Given the description of an element on the screen output the (x, y) to click on. 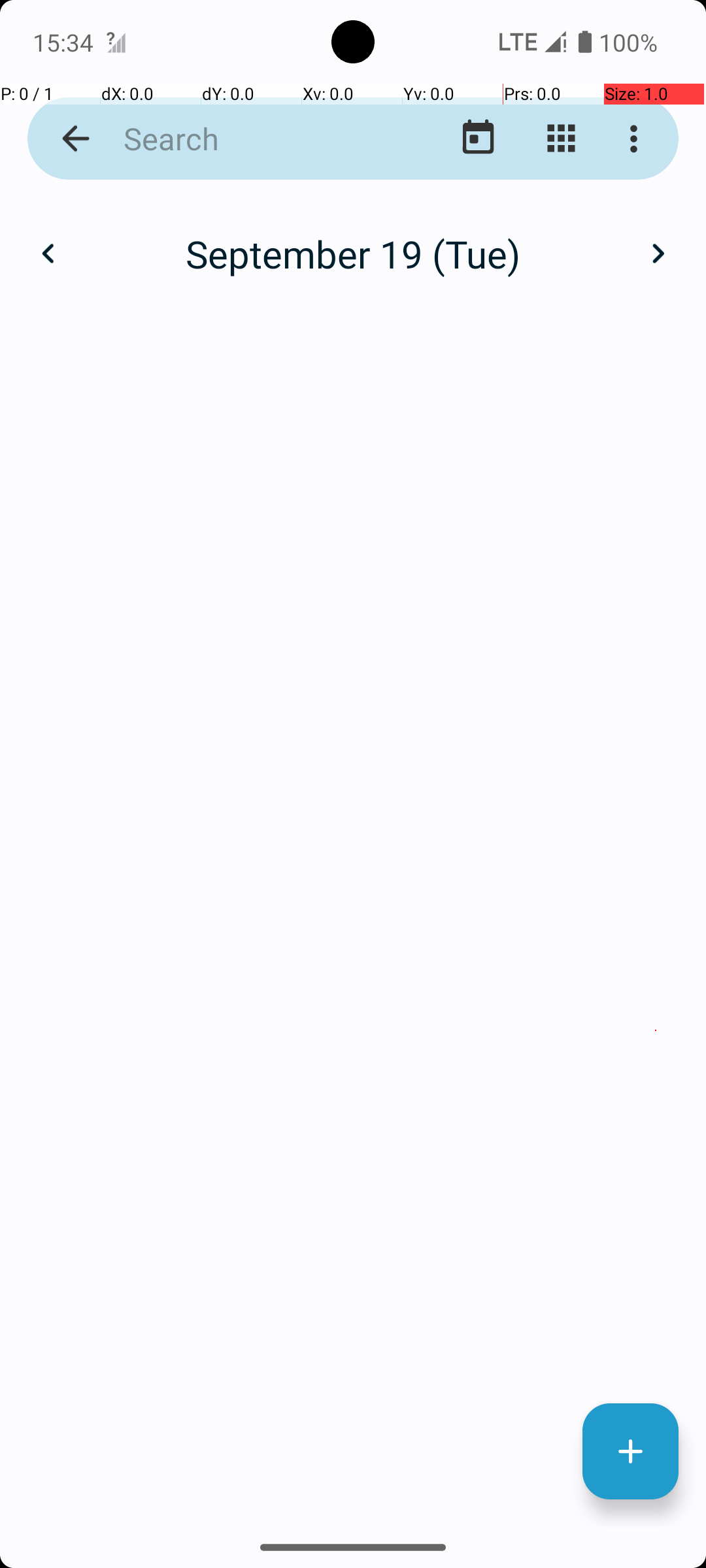
September 19 (Tue) Element type: android.widget.TextView (352, 253)
September Element type: android.widget.TextView (352, 239)
